Given the description of an element on the screen output the (x, y) to click on. 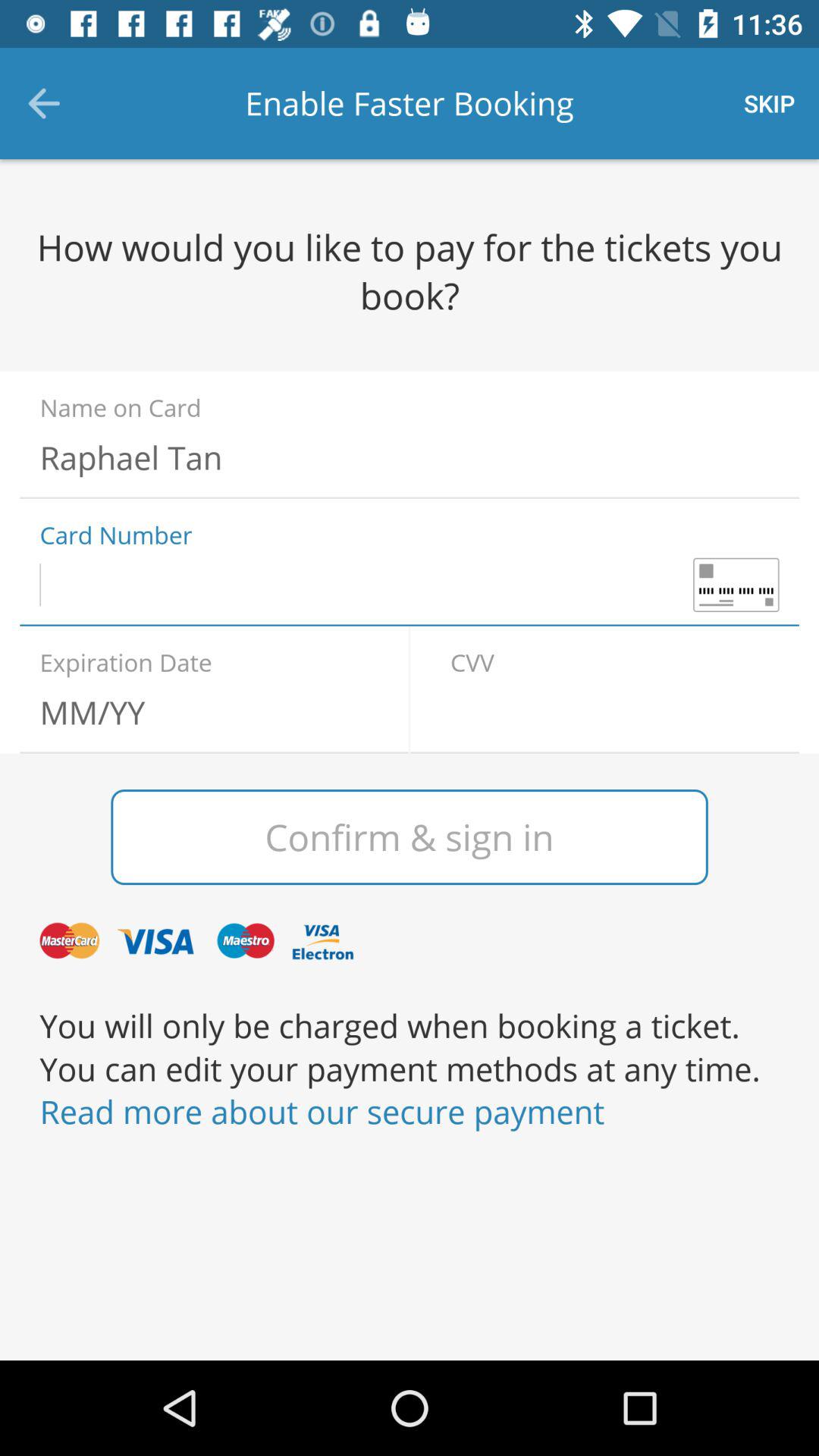
enter date (204, 712)
